Given the description of an element on the screen output the (x, y) to click on. 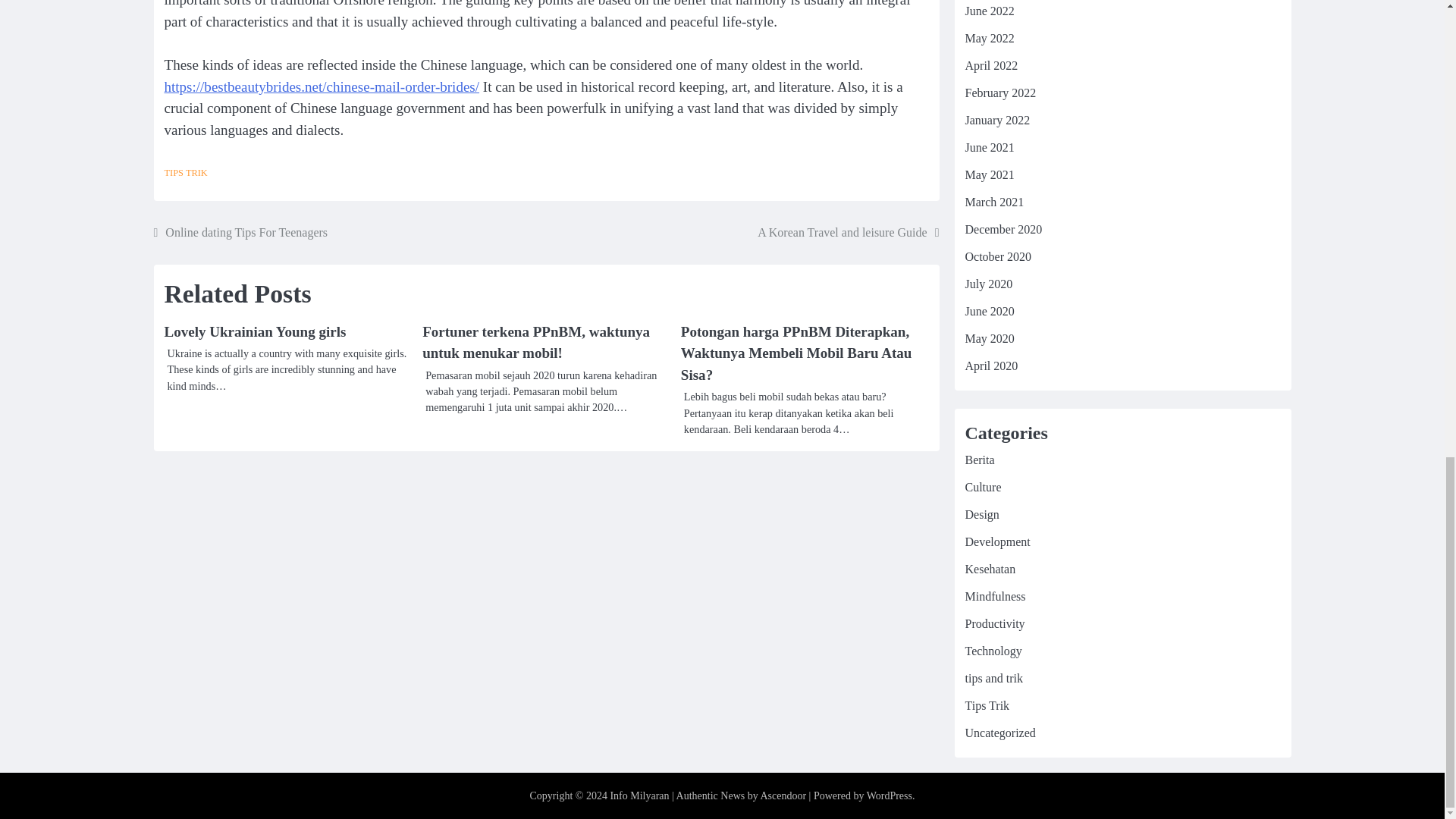
A Korean Travel and leisure Guide (848, 232)
Lovely Ukrainian Young girls (254, 331)
Online dating Tips For Teenagers (239, 232)
TIPS TRIK (184, 172)
Fortuner terkena PPnBM, waktunya untuk menukar mobil! (535, 342)
